Given the description of an element on the screen output the (x, y) to click on. 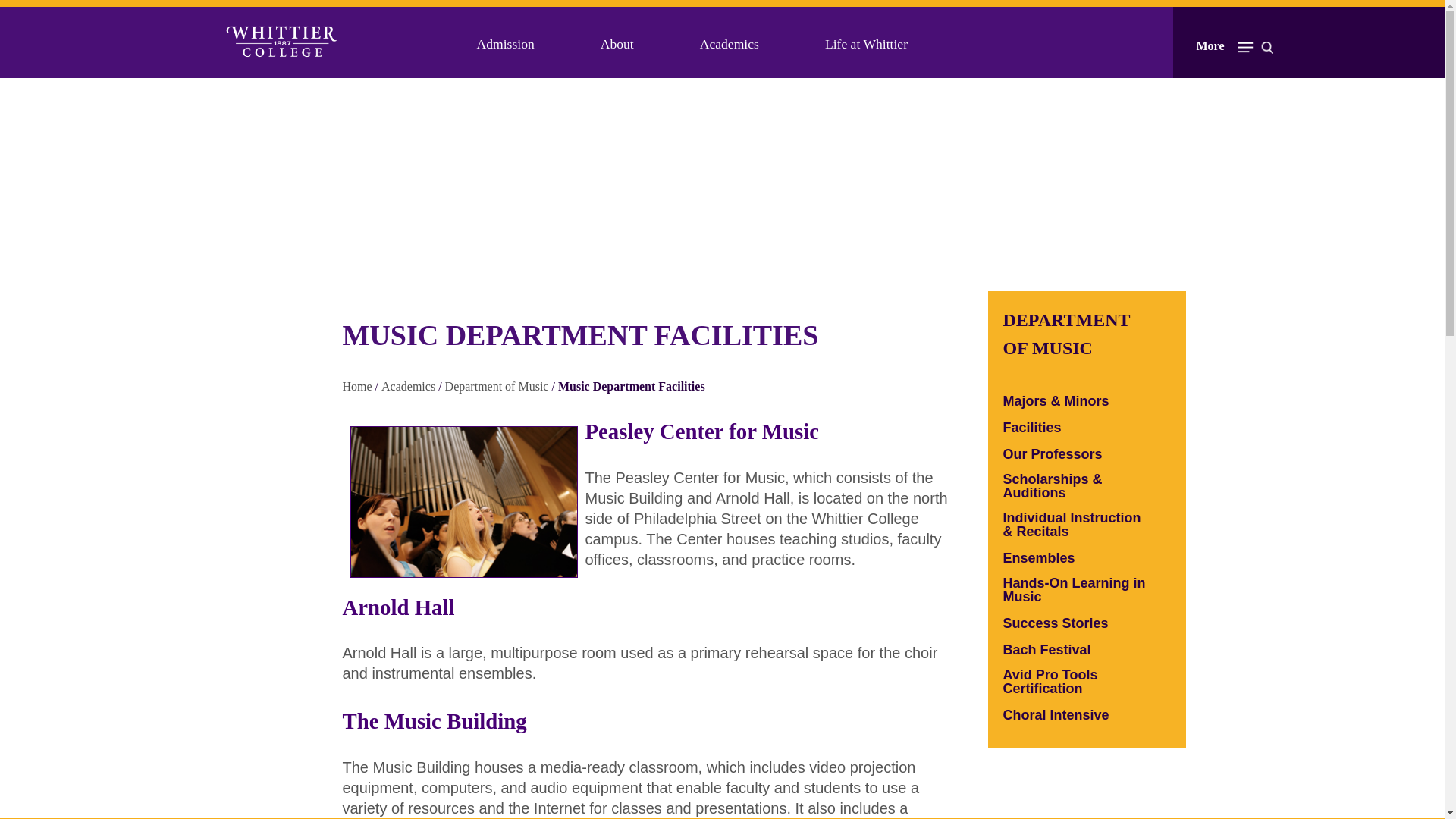
About (616, 43)
Admission (505, 43)
Life at Whittier (866, 43)
Academics (729, 43)
